Given the description of an element on the screen output the (x, y) to click on. 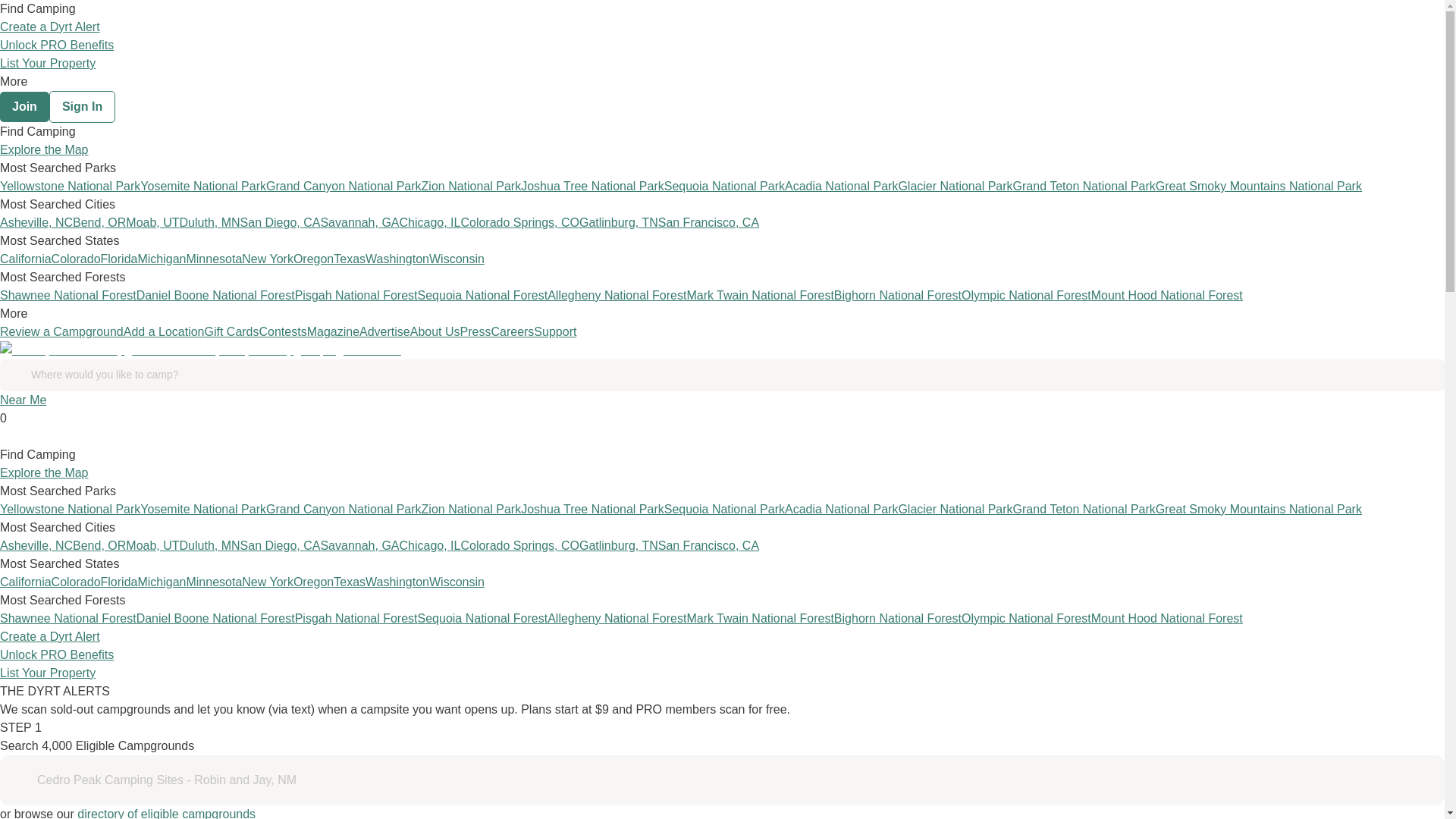
Florida (119, 258)
Chicago, IL (429, 222)
Explore the Map (44, 149)
San Diego, CA (280, 222)
Sign In (82, 106)
Shawnee National Forest (68, 295)
Minnesota (213, 258)
Wisconsin (456, 258)
Pisgah National Forest (356, 295)
Yosemite National Park (202, 185)
Michigan (161, 258)
Colorado (75, 258)
Join (24, 106)
Create a Dyrt Alert (50, 26)
Grand Teton National Park (1084, 185)
